Given the description of an element on the screen output the (x, y) to click on. 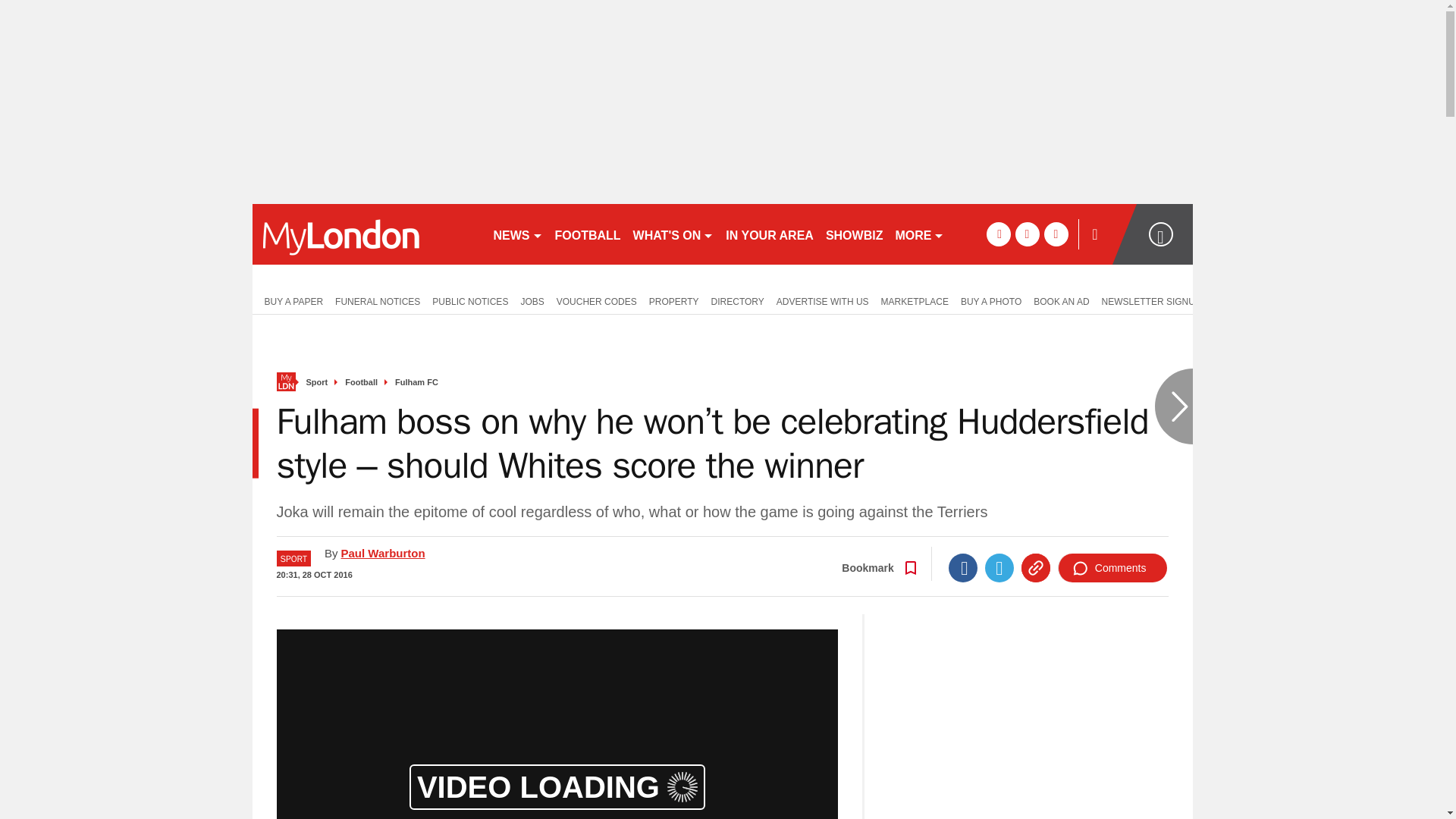
FOOTBALL (587, 233)
IN YOUR AREA (769, 233)
WHAT'S ON (673, 233)
NEWS (517, 233)
SHOWBIZ (854, 233)
Facebook (962, 567)
twitter (1026, 233)
Twitter (999, 567)
getwestlondon (365, 233)
facebook (997, 233)
